Given the description of an element on the screen output the (x, y) to click on. 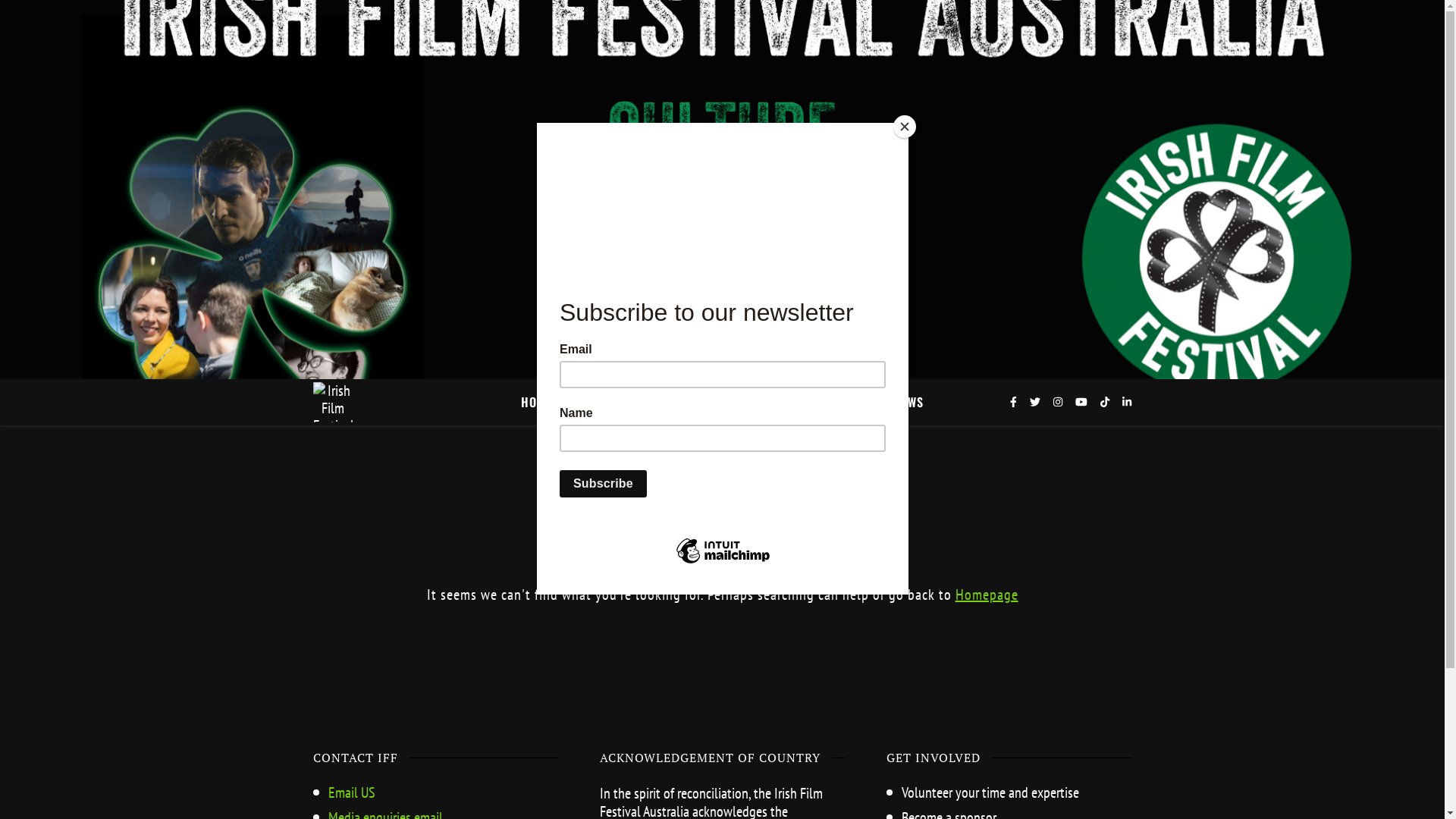
MERCHANDISE Element type: text (785, 401)
Homepage Element type: text (986, 594)
Email US Element type: text (350, 792)
HOME Element type: text (542, 401)
Irish Film Festival Australia Element type: hover (331, 402)
DONATE Element type: text (698, 401)
Irish Film Festival Australia Element type: hover (722, 189)
ABOUT IFF Element type: text (614, 402)
LATEST NEWS Element type: text (881, 401)
